Given the description of an element on the screen output the (x, y) to click on. 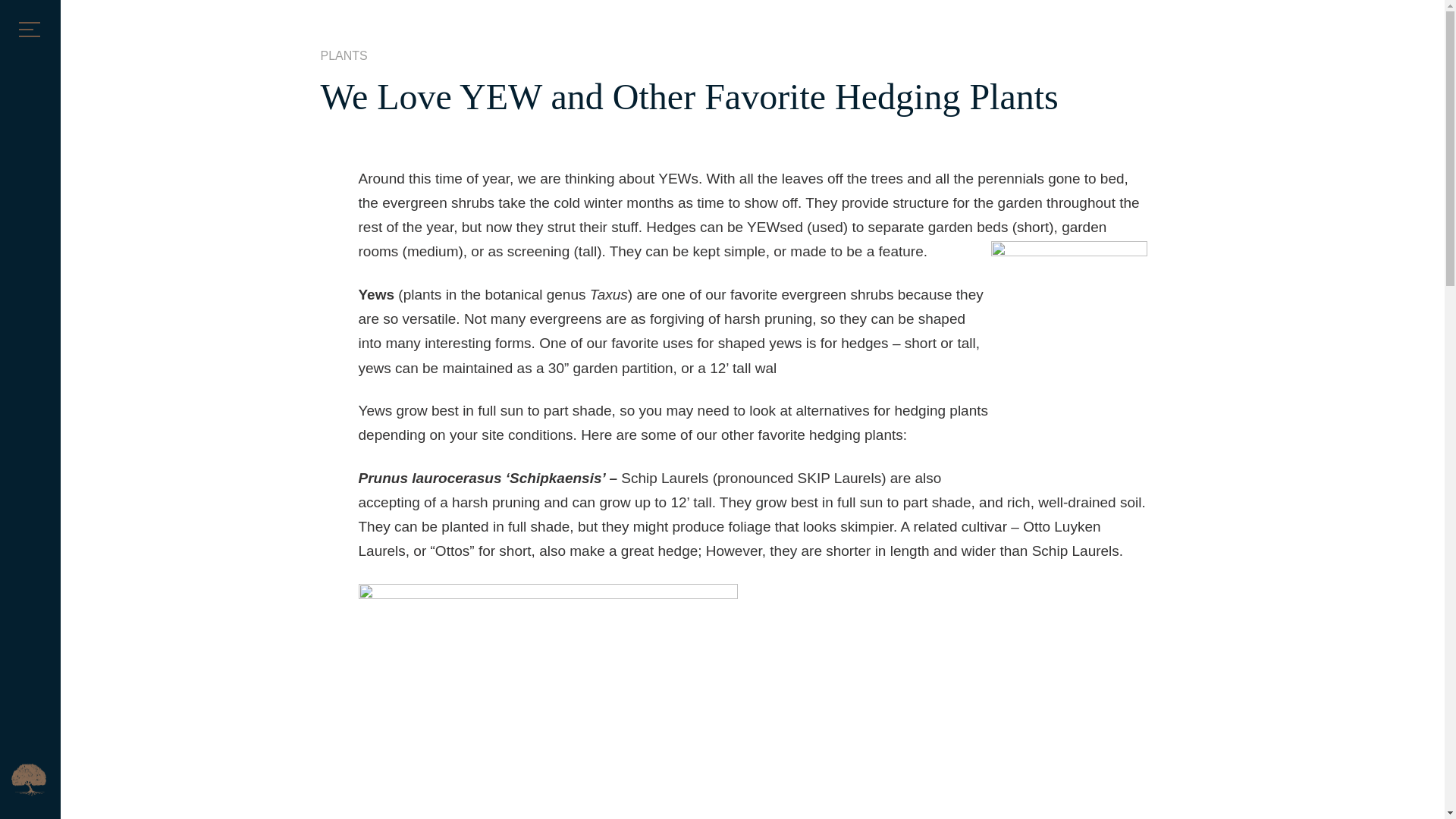
PLANTS (343, 56)
